Given the description of an element on the screen output the (x, y) to click on. 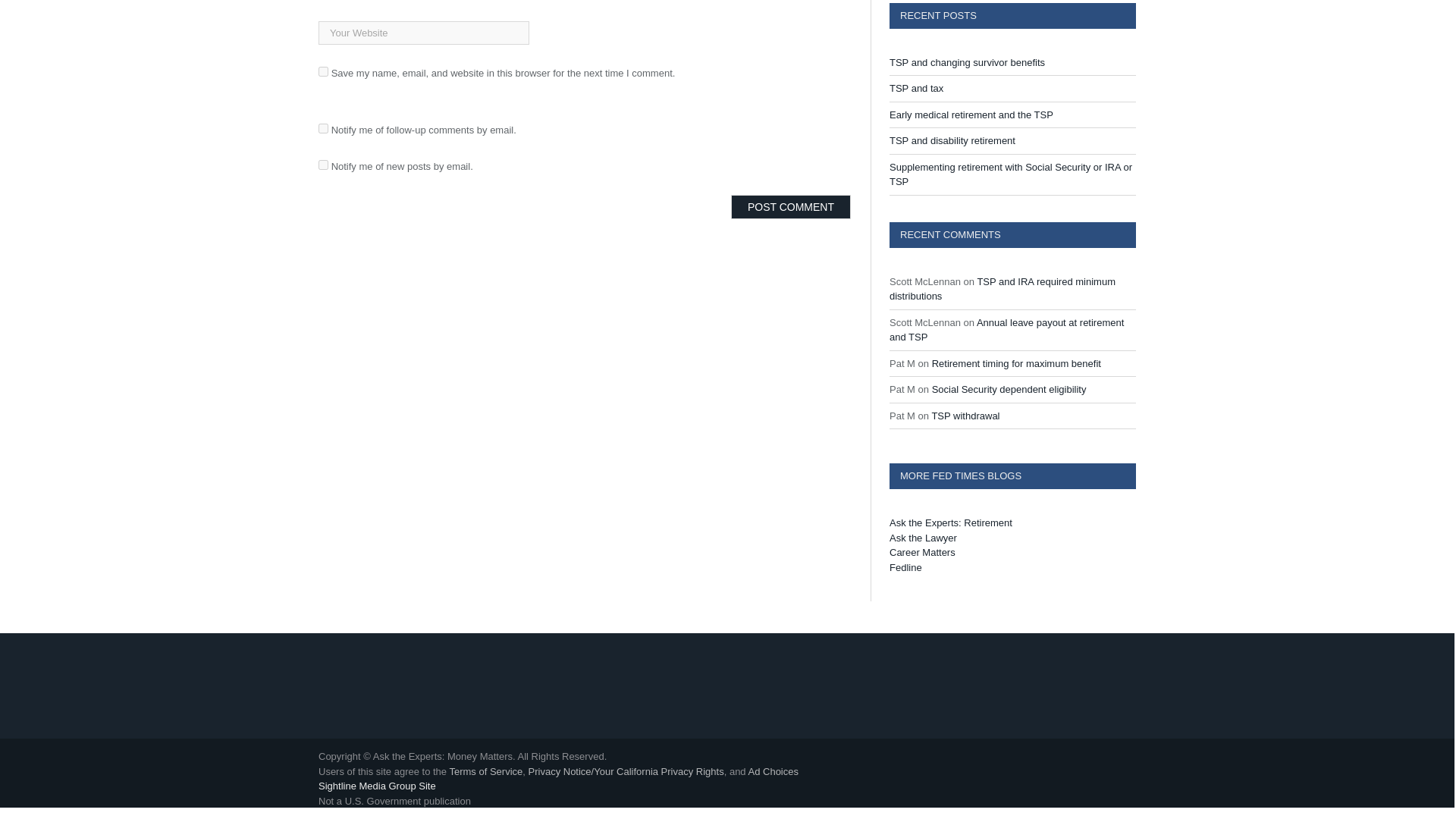
Post Comment (790, 206)
yes (323, 71)
subscribe (323, 128)
subscribe (323, 164)
